Given the description of an element on the screen output the (x, y) to click on. 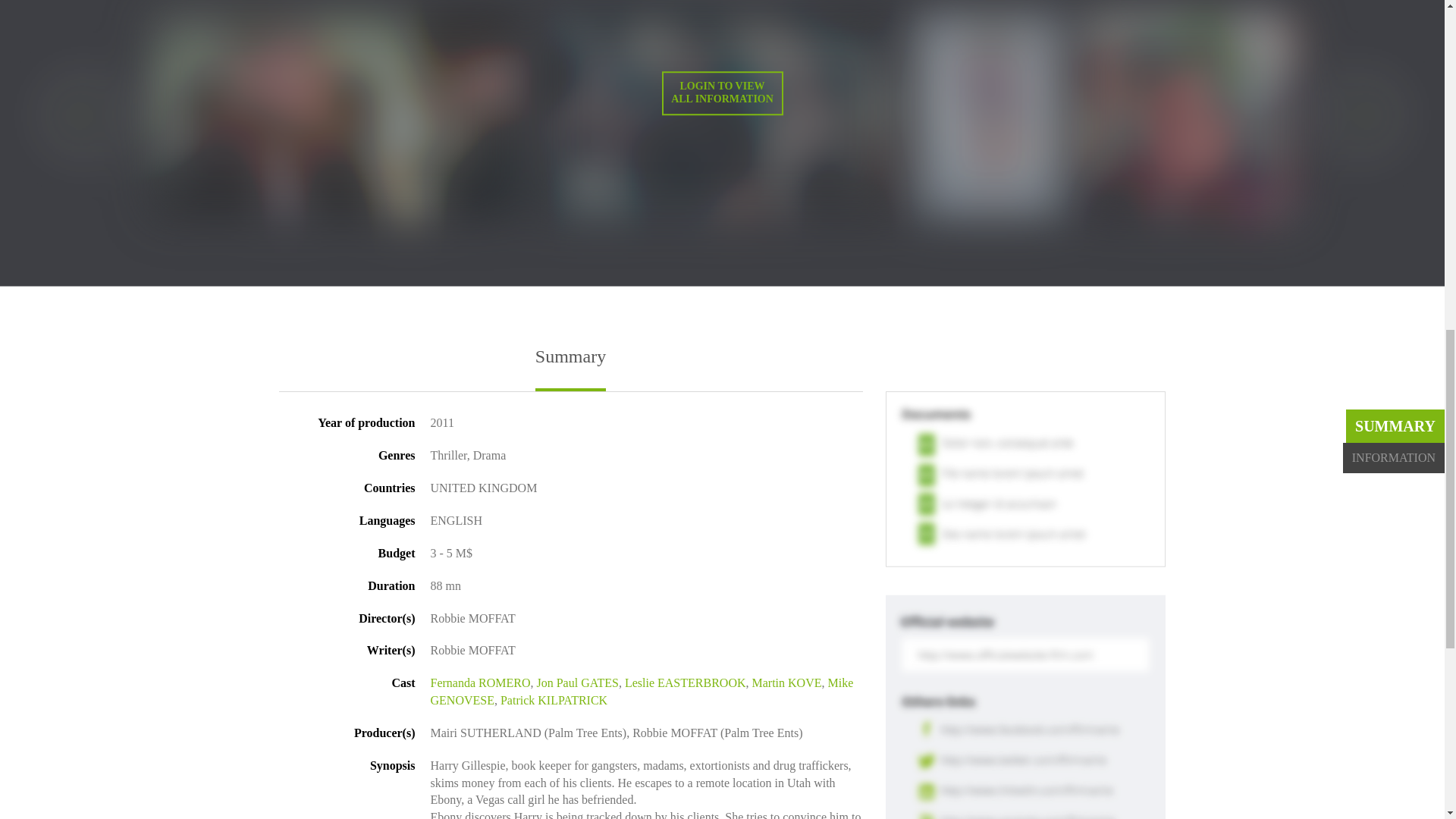
Jon Paul GATES (576, 682)
Fernanda ROMERO (480, 682)
Summary (570, 369)
Martin KOVE (786, 682)
Leslie EASTERBROOK (684, 682)
LOGIN TO VIEW ALL INFORMATION (722, 93)
Mike GENOVESE (641, 691)
Patrick KILPATRICK (553, 699)
